Given the description of an element on the screen output the (x, y) to click on. 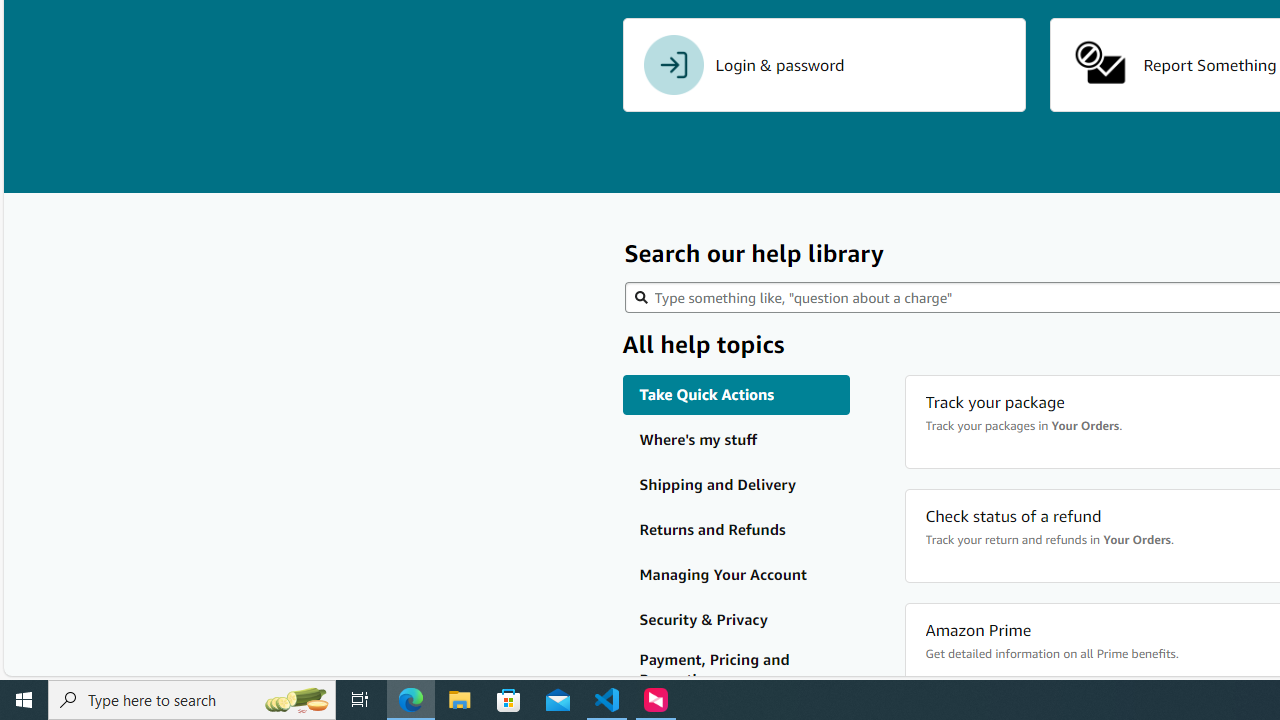
Class: help-topics (735, 669)
Login & password (824, 65)
